Given the description of an element on the screen output the (x, y) to click on. 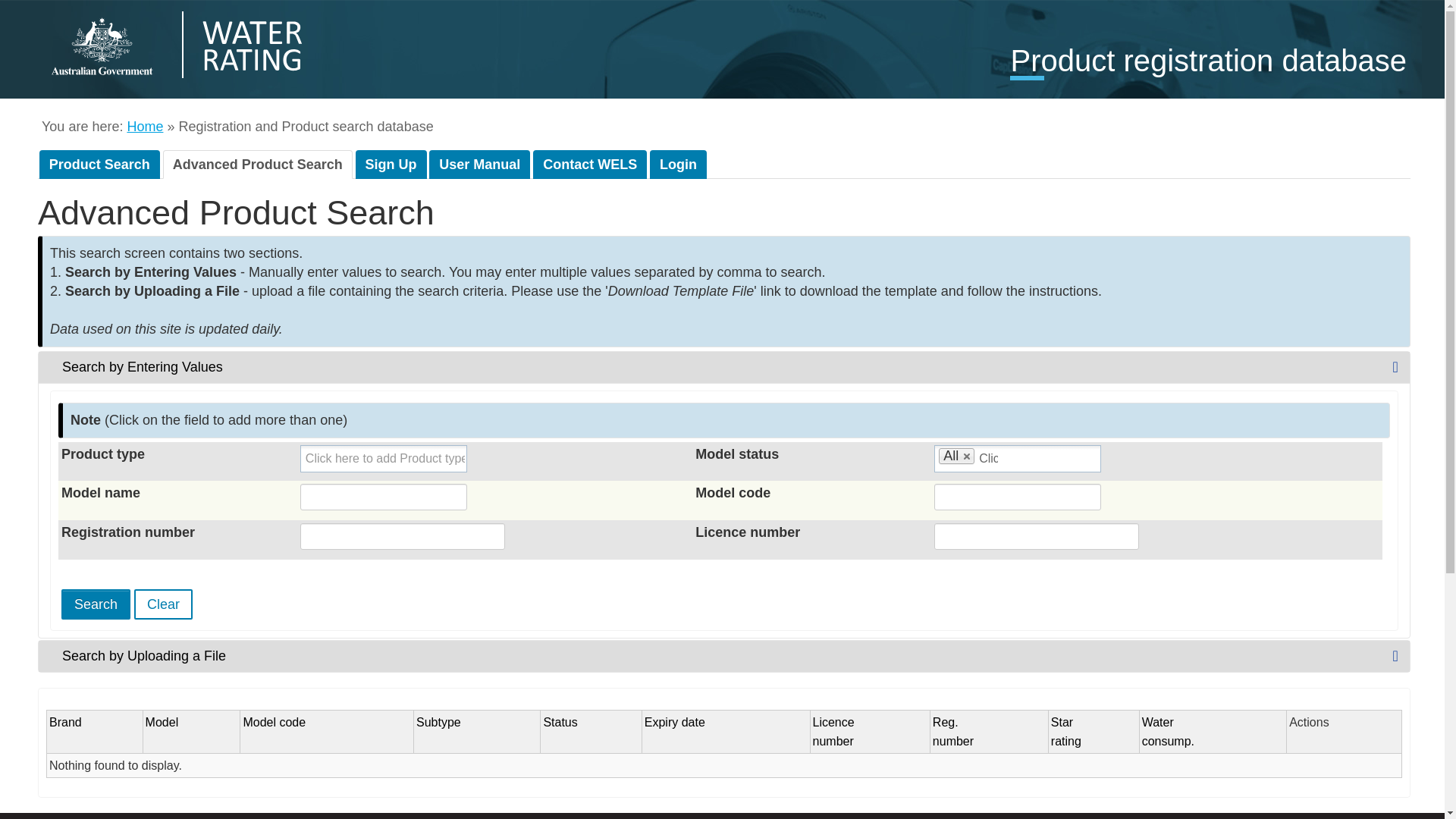
Click here to add Product type... (384, 457)
User Manual (479, 164)
Advanced Product Search (257, 164)
Login (1066, 731)
Search by Entering Values (953, 731)
Sign Up (677, 164)
Home (724, 367)
Model (390, 164)
Contact WELS (1167, 731)
Clear (144, 126)
Subtype (162, 721)
Product Search (589, 164)
